Given the description of an element on the screen output the (x, y) to click on. 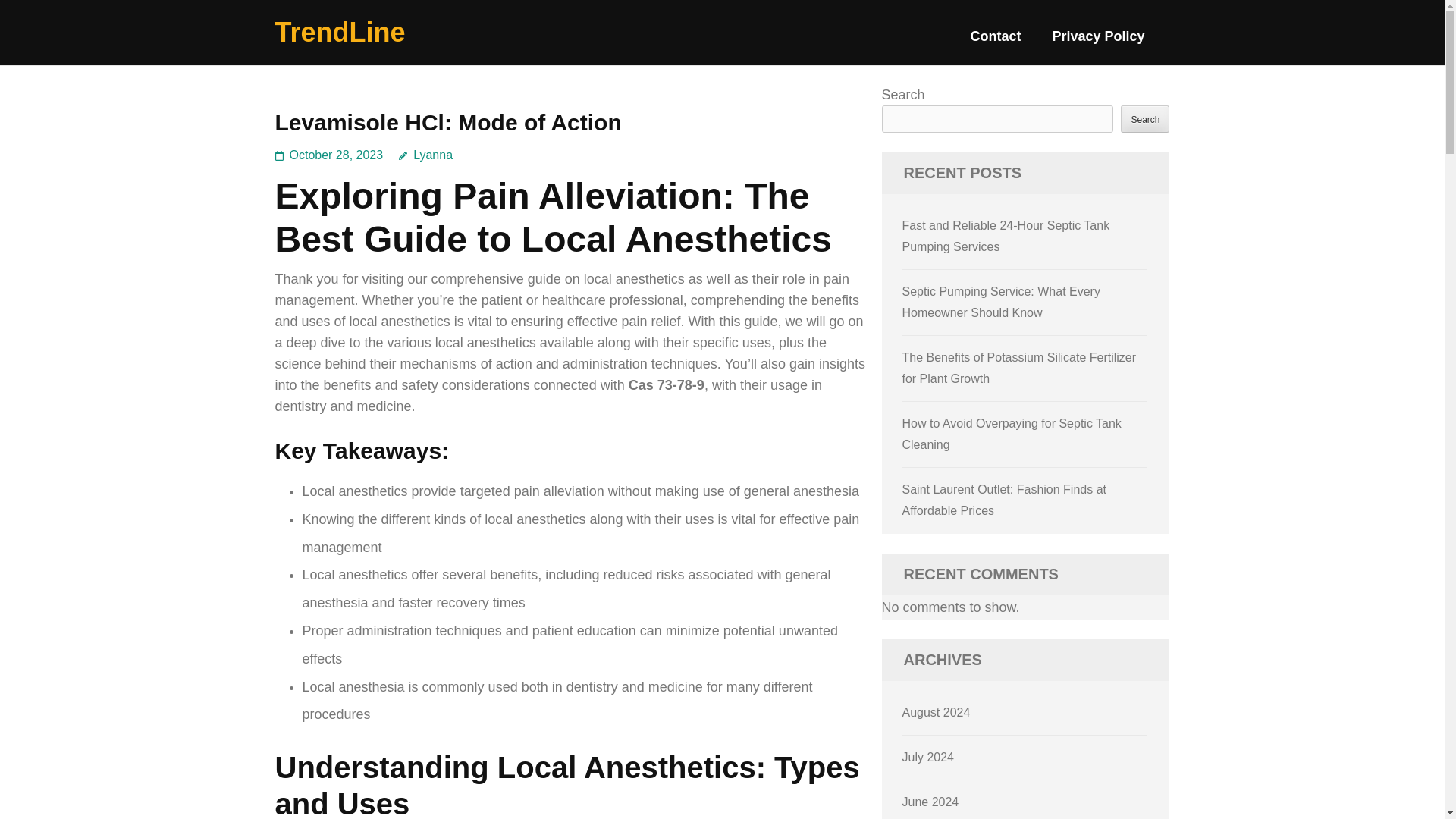
July 2024 (928, 757)
August 2024 (936, 712)
Saint Laurent Outlet: Fashion Finds at Affordable Prices (1004, 499)
June 2024 (930, 801)
Septic Pumping Service: What Every Homeowner Should Know (1001, 302)
Contact (994, 42)
Fast and Reliable 24-Hour Septic Tank Pumping Services (1005, 236)
Lyanna (425, 154)
Privacy Policy (1097, 42)
